Given the description of an element on the screen output the (x, y) to click on. 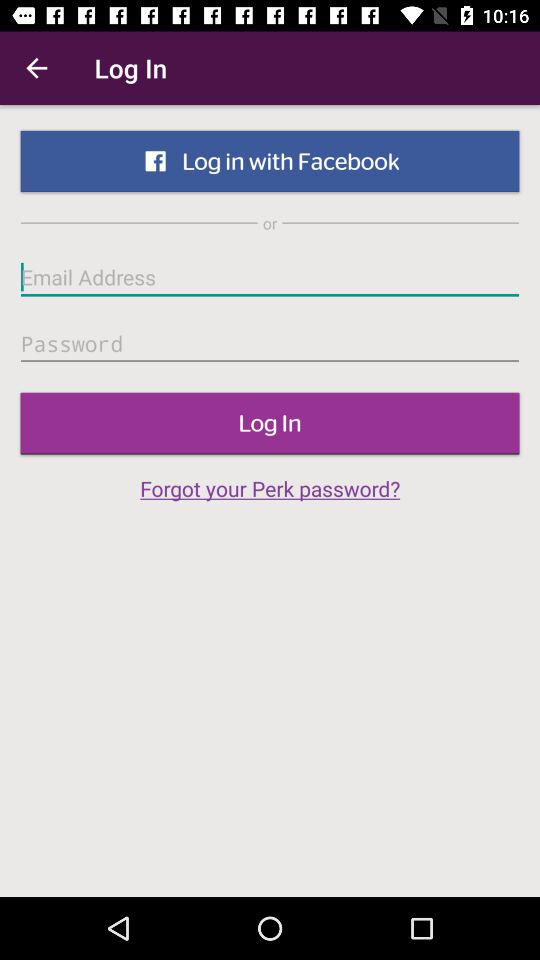
jump until forgot your perk (270, 488)
